Given the description of an element on the screen output the (x, y) to click on. 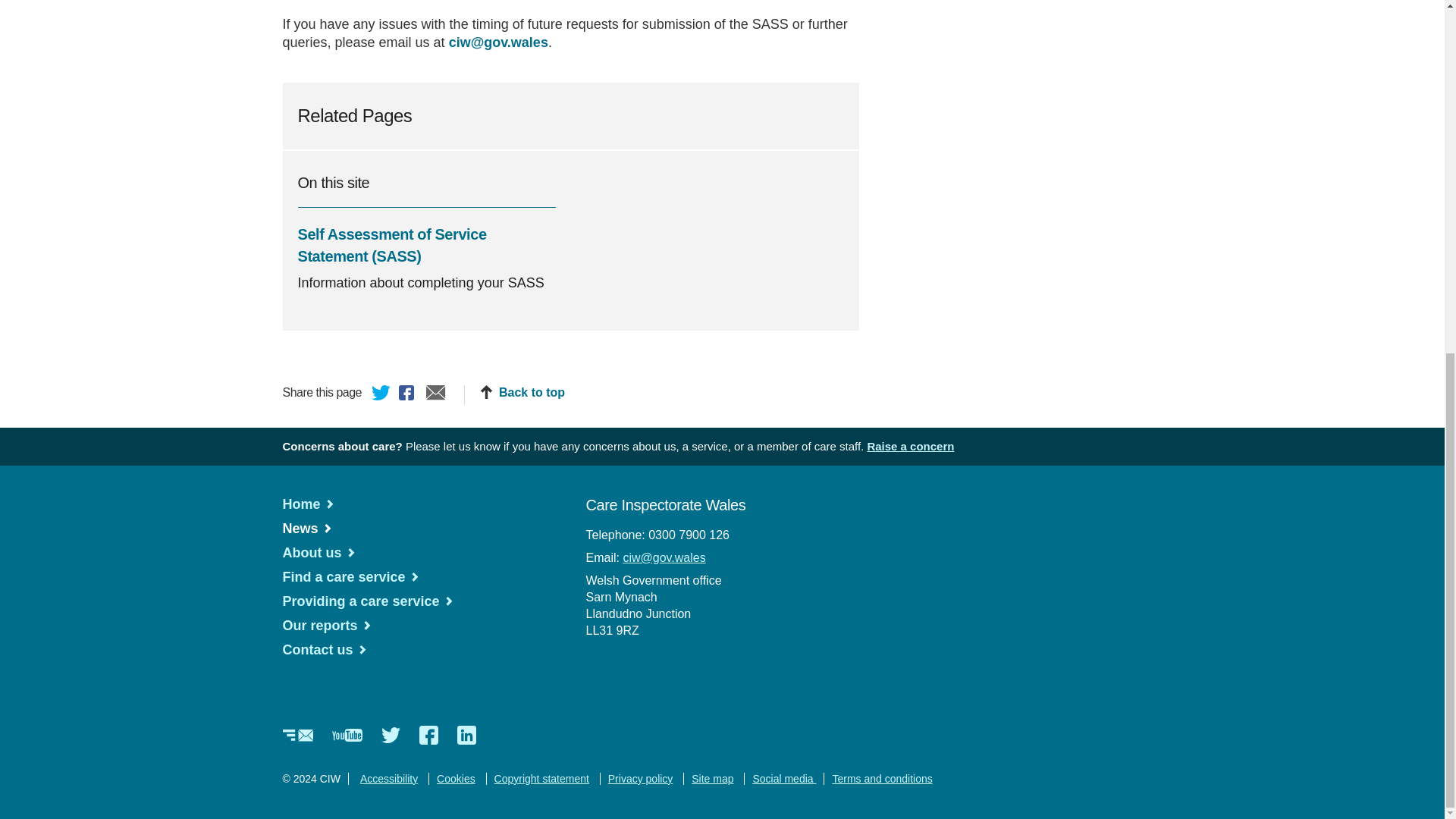
Email (435, 394)
Twitter (381, 394)
Home (307, 503)
Facebook (408, 394)
Raise a concern (909, 445)
Back to top (522, 392)
News (306, 528)
Raising a concern about care services  (909, 445)
